Given the description of an element on the screen output the (x, y) to click on. 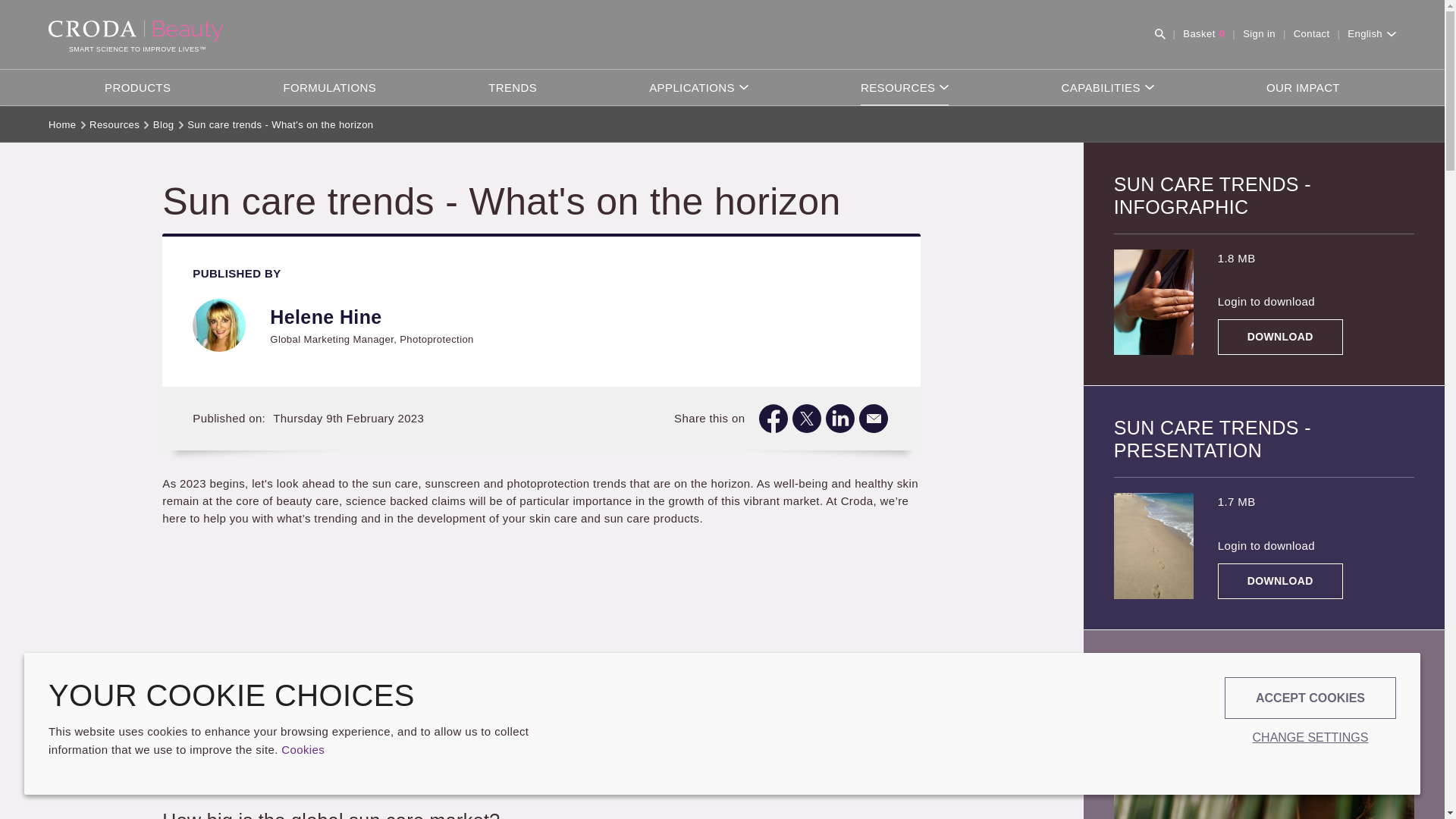
FORMULATIONS (328, 87)
TRENDS (1203, 34)
PRODUCTS (512, 87)
Contact (137, 87)
Sign in (1312, 34)
Open search (1259, 34)
RESOURCES (1160, 33)
SKIP TO CONTENT (904, 87)
